Given the description of an element on the screen output the (x, y) to click on. 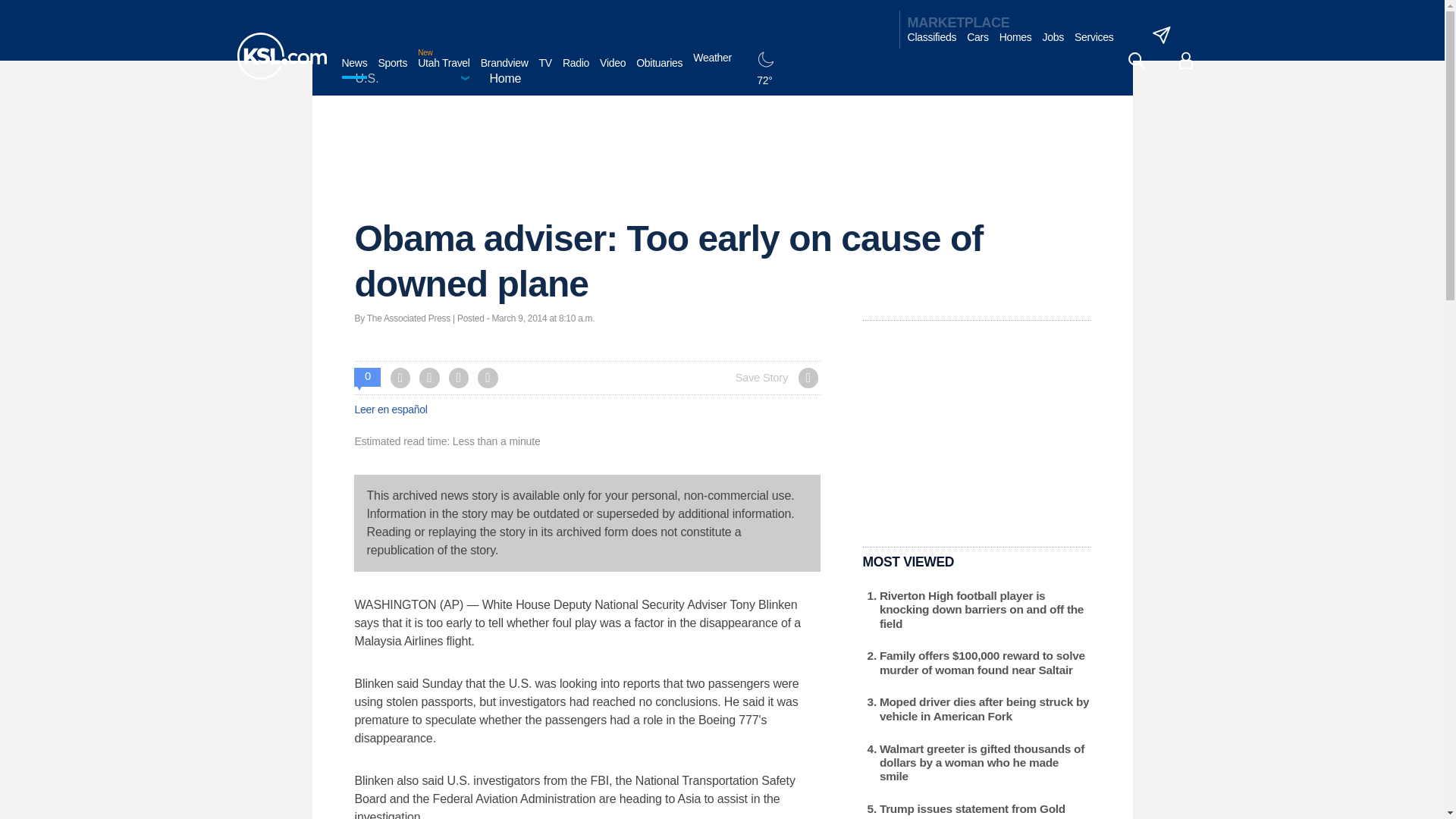
account - logged out (1185, 60)
search (1135, 60)
KSL homepage (280, 55)
